Given the description of an element on the screen output the (x, y) to click on. 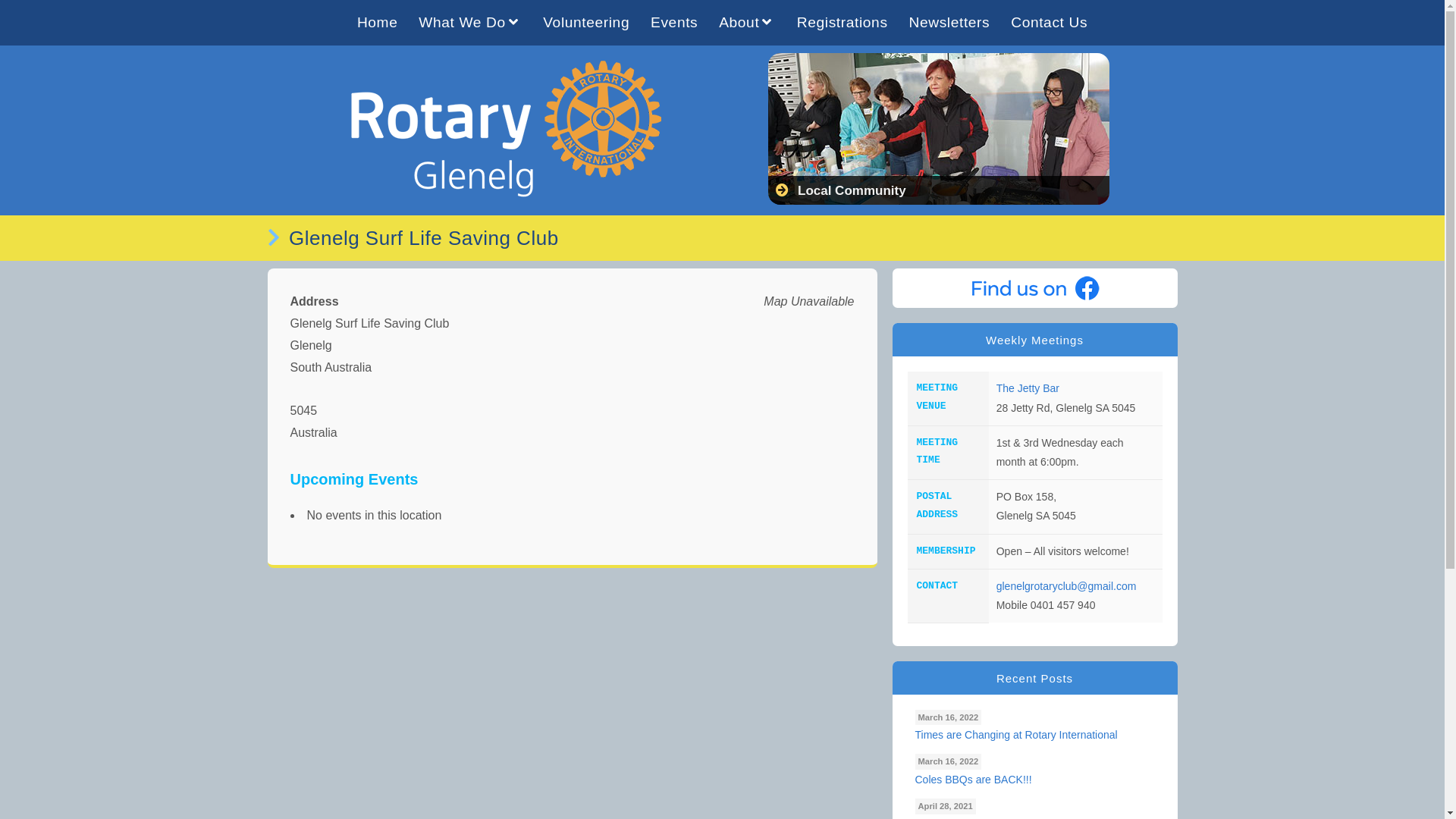
Newsletters Element type: text (949, 22)
What We Do Element type: text (469, 22)
Registrations Element type: text (842, 22)
Contact Us Element type: text (1049, 22)
Volunteering Element type: text (586, 22)
Times are Changing at Rotary International Element type: text (1034, 735)
Events Element type: text (674, 22)
Coles BBQs are BACK!!! Element type: text (1034, 779)
The Jetty Bar Element type: text (1027, 388)
About Element type: text (747, 22)
Home Element type: text (376, 22)
glenelgrotaryclub@gmail.com Element type: text (1066, 586)
